Given the description of an element on the screen output the (x, y) to click on. 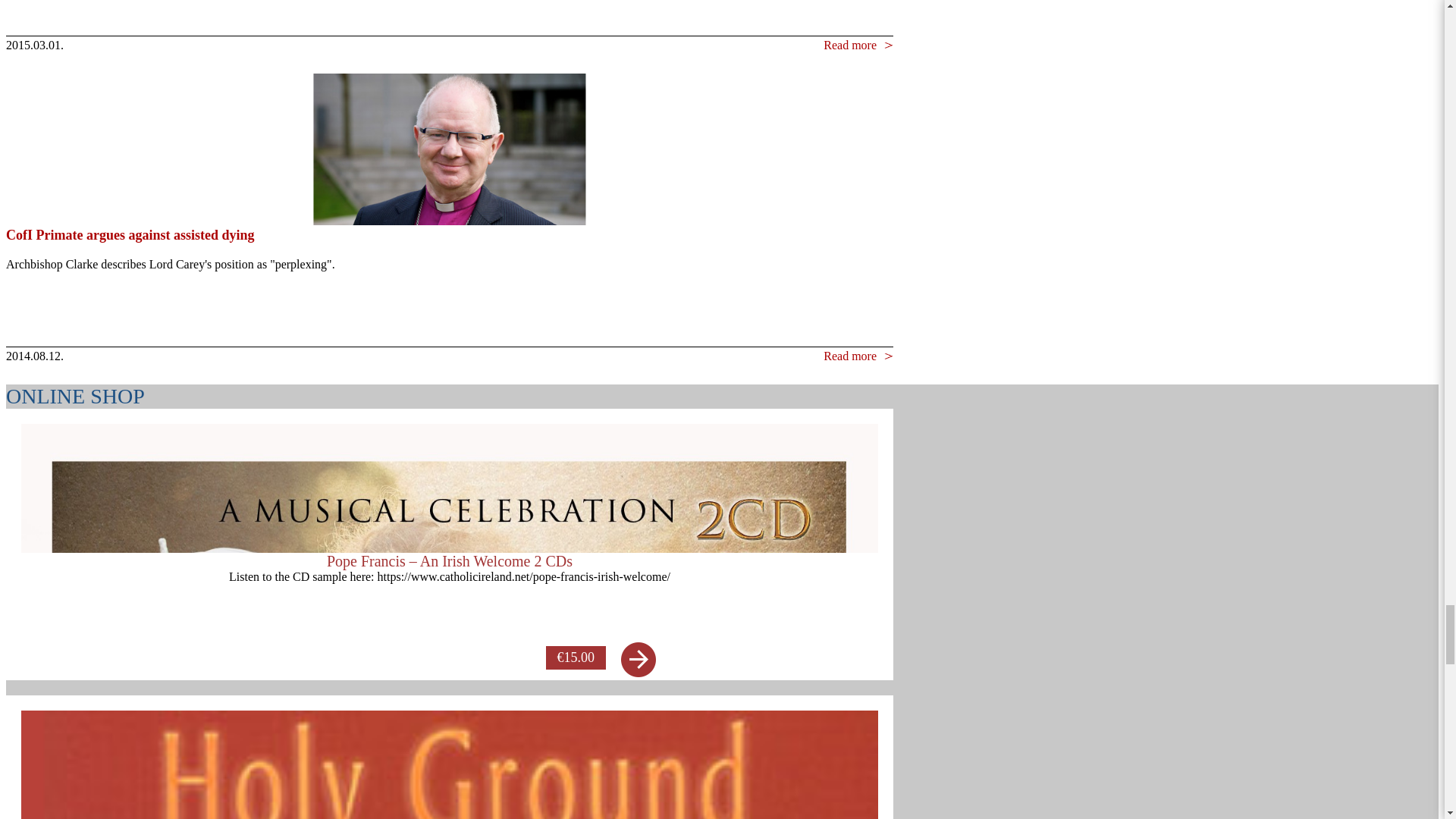
Holy Ground (449, 764)
